Given the description of an element on the screen output the (x, y) to click on. 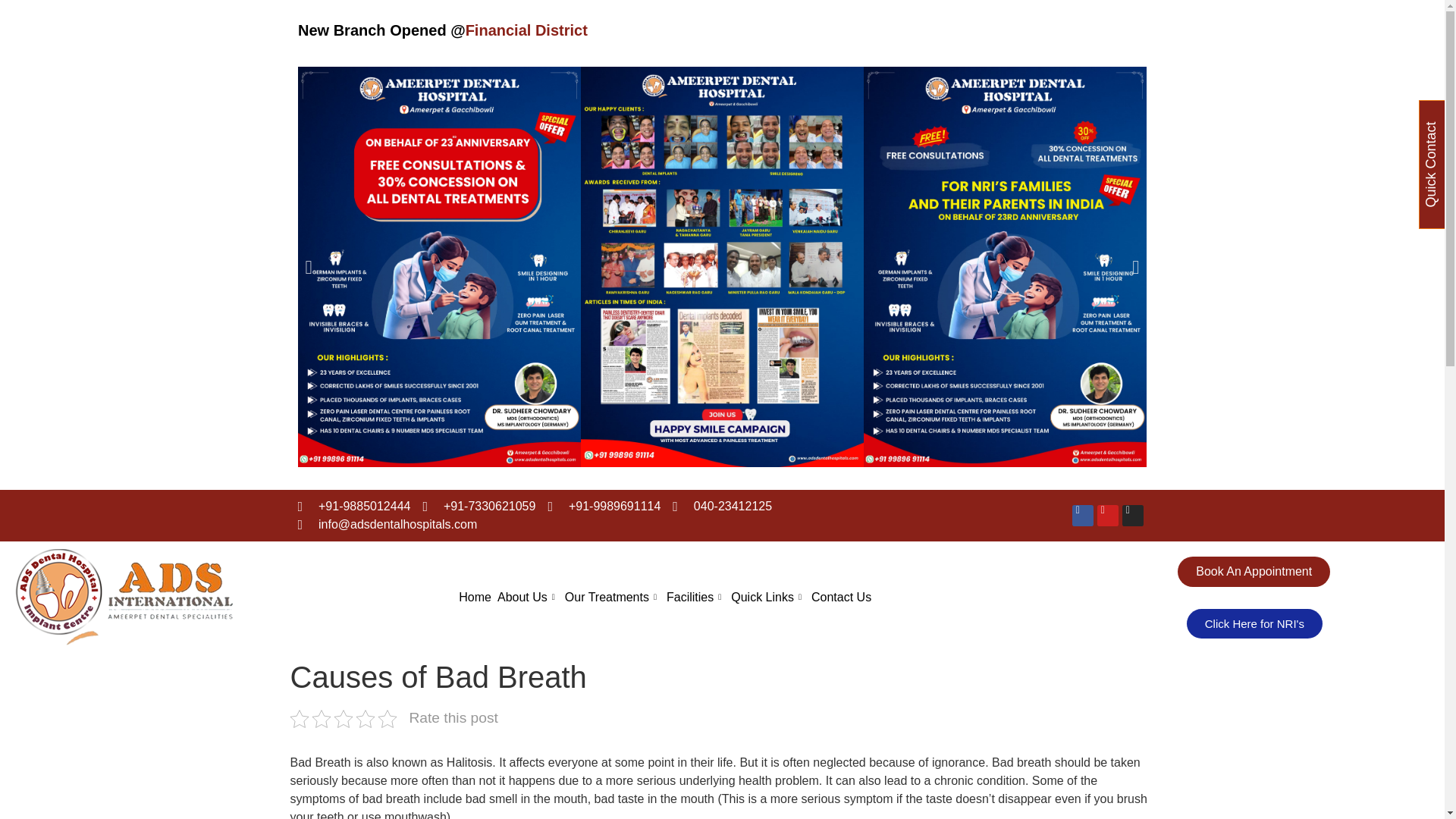
Home (477, 597)
Our Treatments (615, 597)
Contact Us (843, 597)
Quick Links (770, 597)
Book An Appointment (1253, 571)
Facilities (698, 597)
About Us (530, 597)
